Given the description of an element on the screen output the (x, y) to click on. 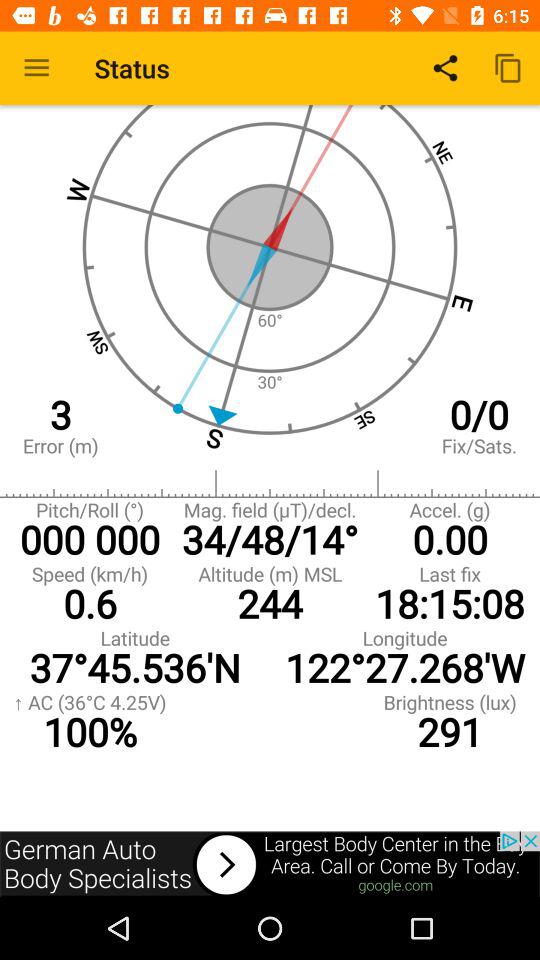
redirect to advertisement (270, 864)
